Given the description of an element on the screen output the (x, y) to click on. 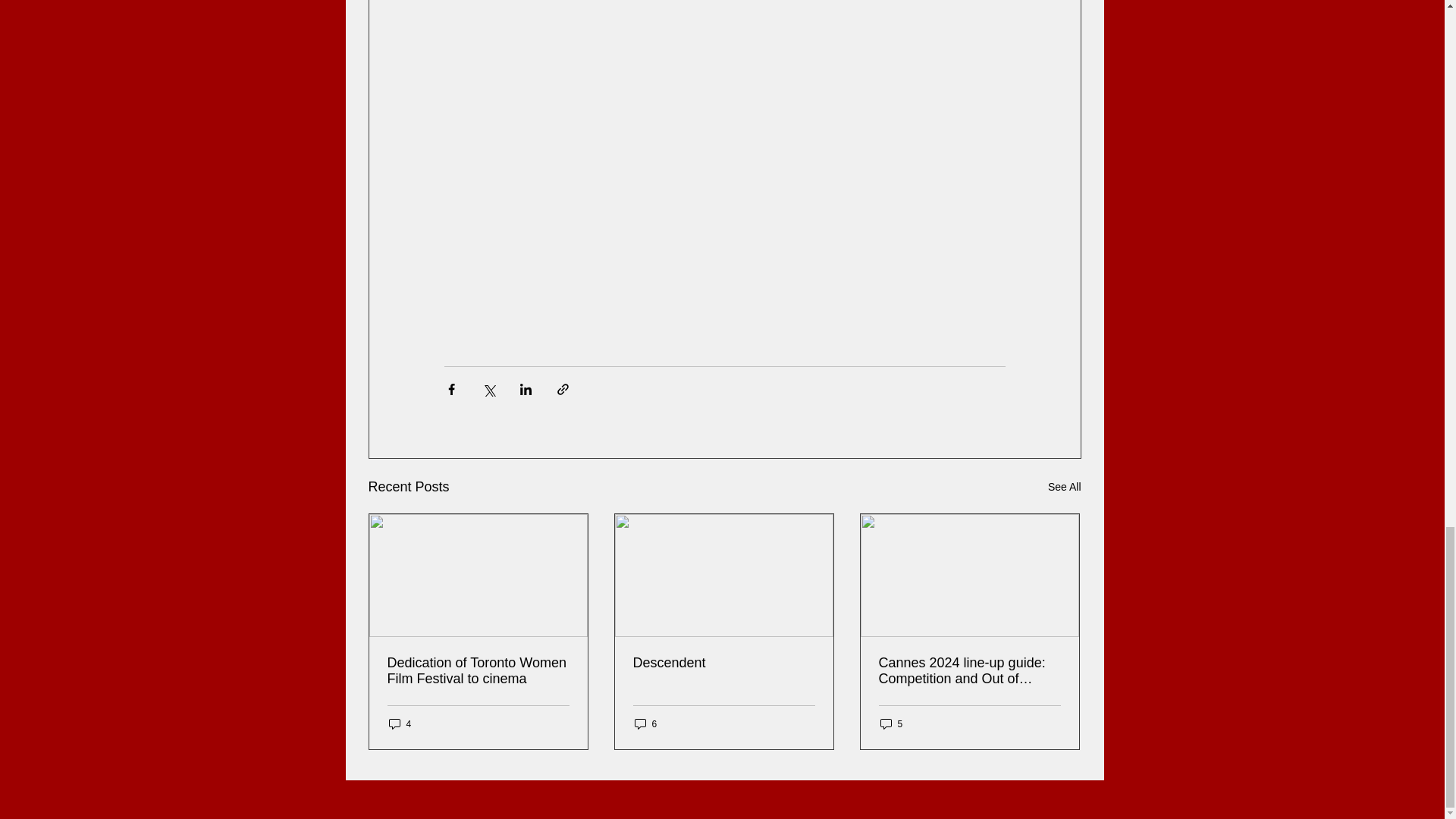
Descendent (722, 662)
4 (399, 723)
See All (1064, 486)
Dedication of Toronto Women Film Festival to cinema (478, 671)
6 (644, 723)
5 (890, 723)
